Given the description of an element on the screen output the (x, y) to click on. 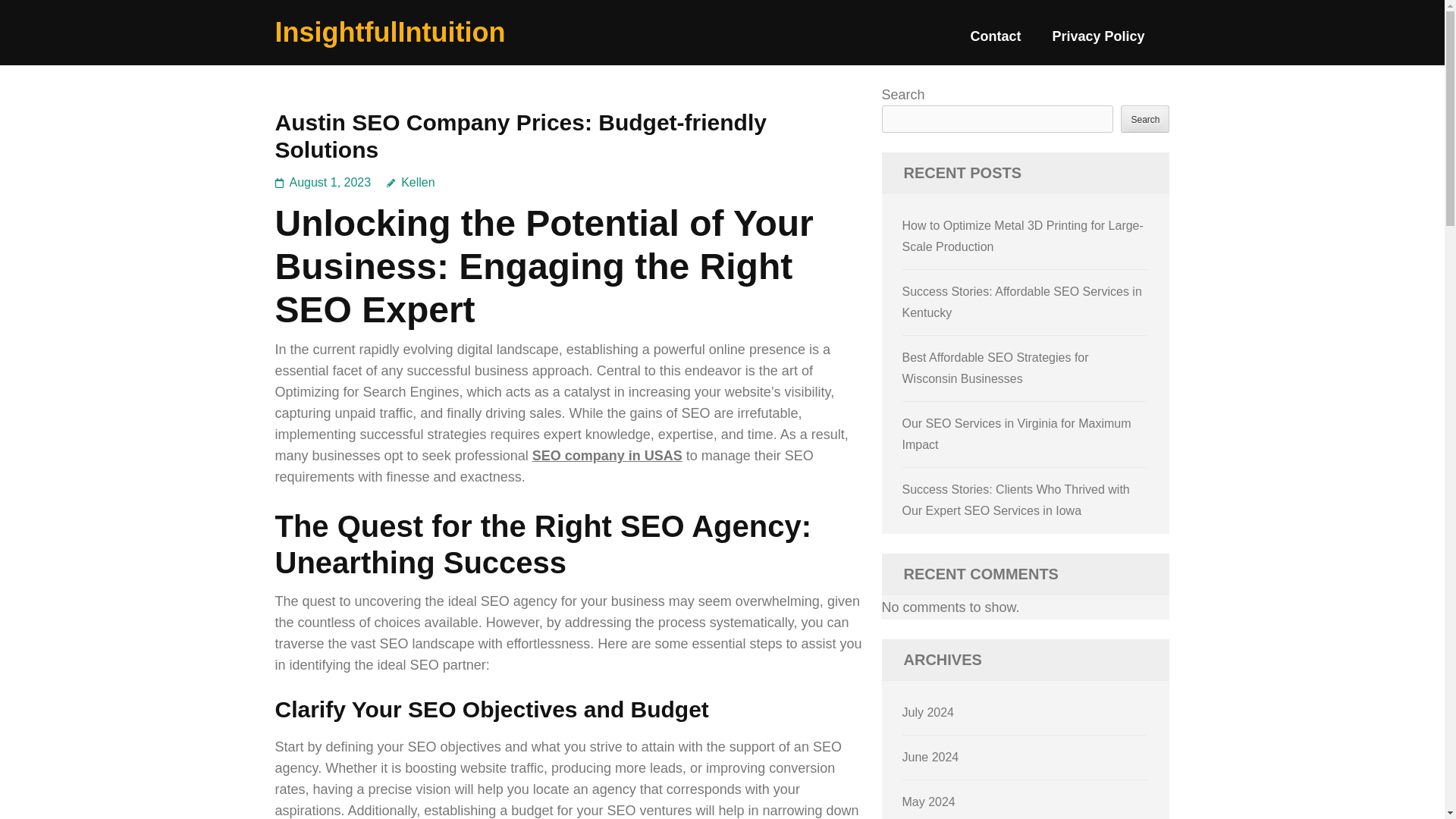
June 2024 (930, 757)
Kellen (410, 182)
Success Stories: Affordable SEO Services in Kentucky (1021, 302)
Contact (994, 42)
SEO company in USAS (607, 455)
Privacy Policy (1097, 42)
July 2024 (928, 712)
August 1, 2023 (330, 182)
Best Affordable SEO Strategies for Wisconsin Businesses (995, 367)
Search (1145, 118)
May 2024 (928, 801)
InsightfulIntuition (390, 31)
Our SEO Services in Virginia for Maximum Impact (1016, 433)
How to Optimize Metal 3D Printing for Large-Scale Production (1022, 236)
